Given the description of an element on the screen output the (x, y) to click on. 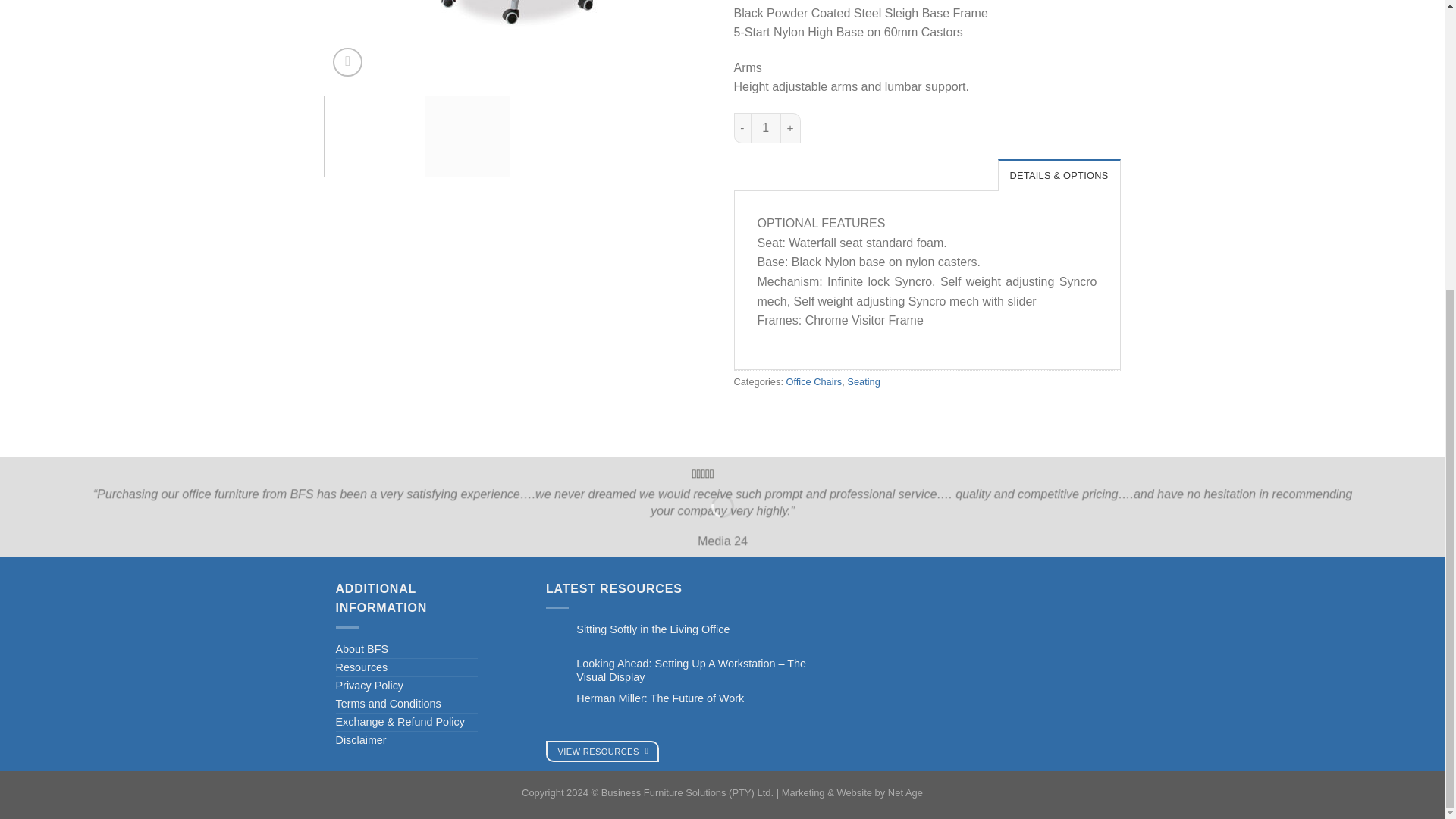
Sitting Softly in the Living Office (696, 629)
Herman Miller: The Future of Work (696, 698)
1 (765, 128)
Zoom (347, 61)
